Given the description of an element on the screen output the (x, y) to click on. 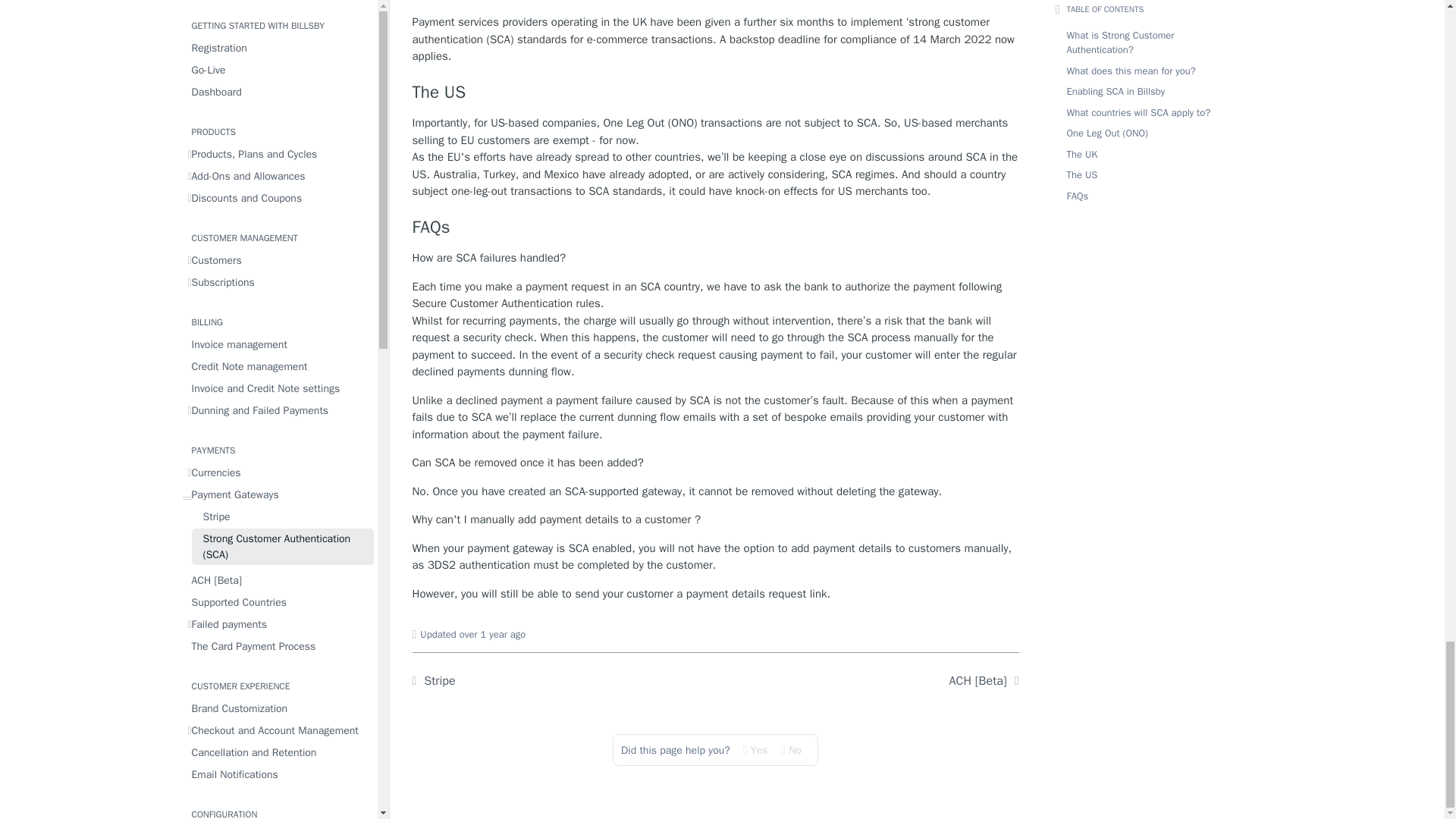
The US (715, 92)
FAQs (715, 227)
